Given the description of an element on the screen output the (x, y) to click on. 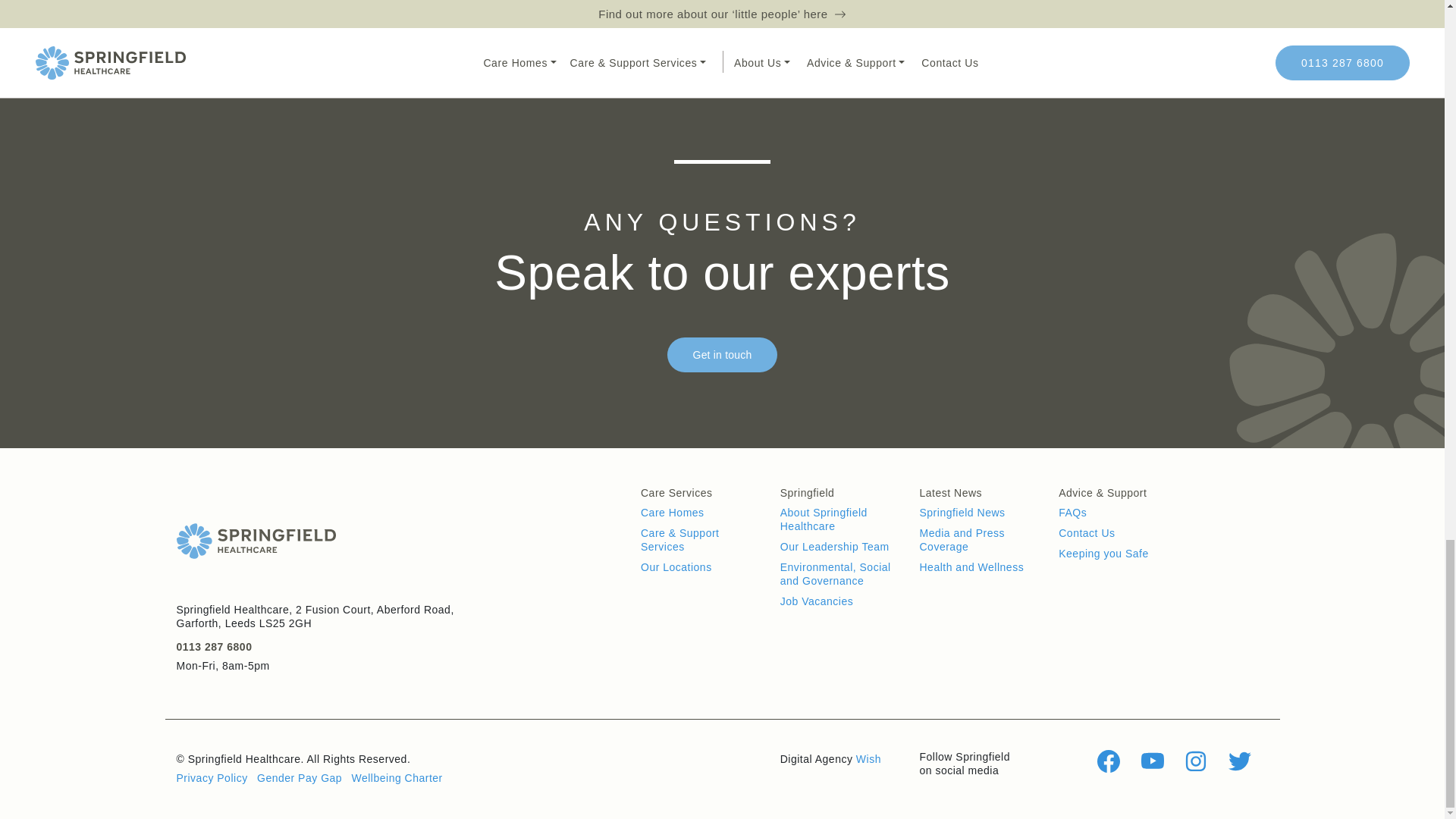
Wish Integrated Marketing Agency Website (868, 758)
